Given the description of an element on the screen output the (x, y) to click on. 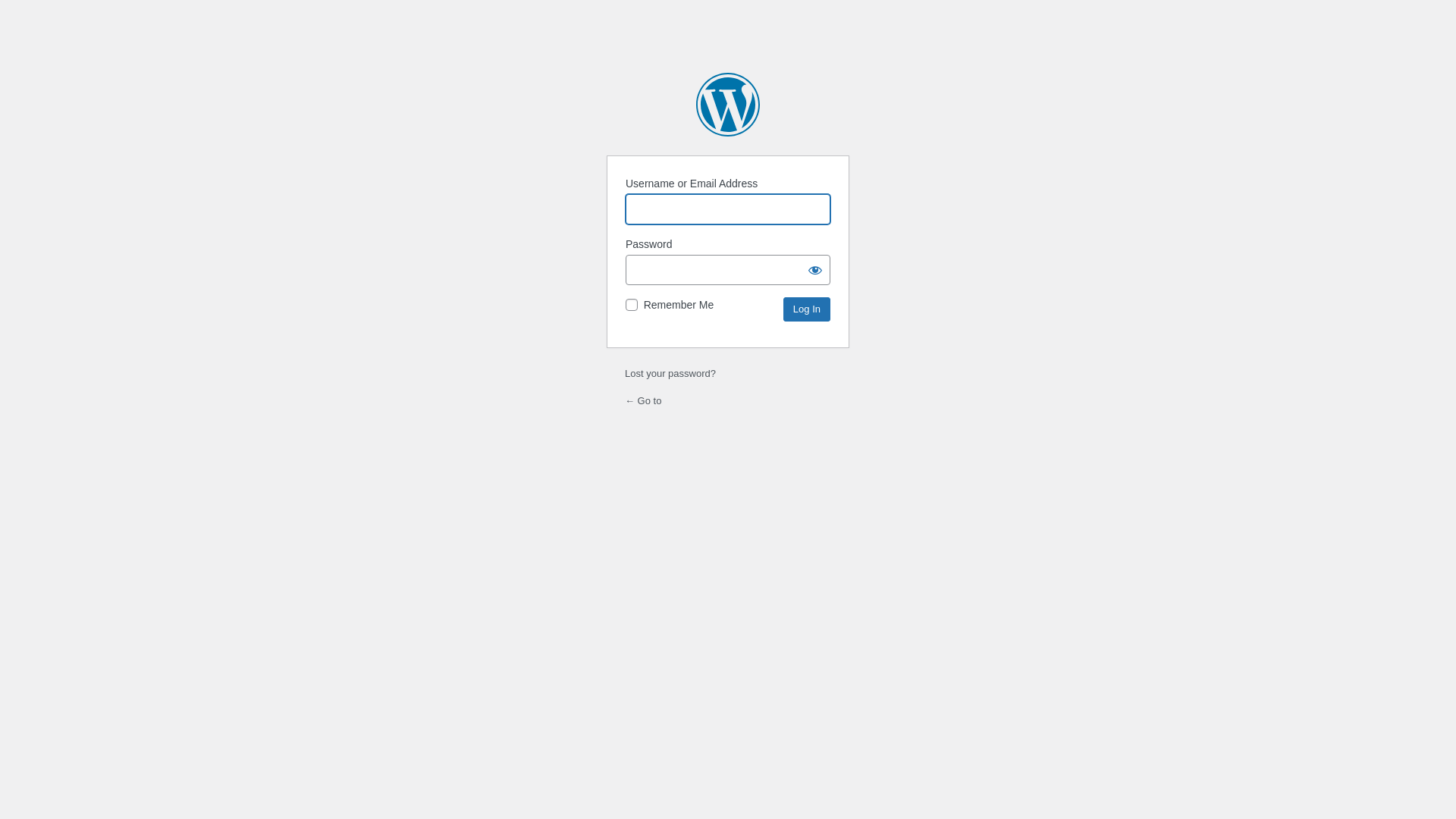
Powered by WordPress Element type: text (727, 104)
Lost your password? Element type: text (669, 373)
Log In Element type: text (806, 309)
